Given the description of an element on the screen output the (x, y) to click on. 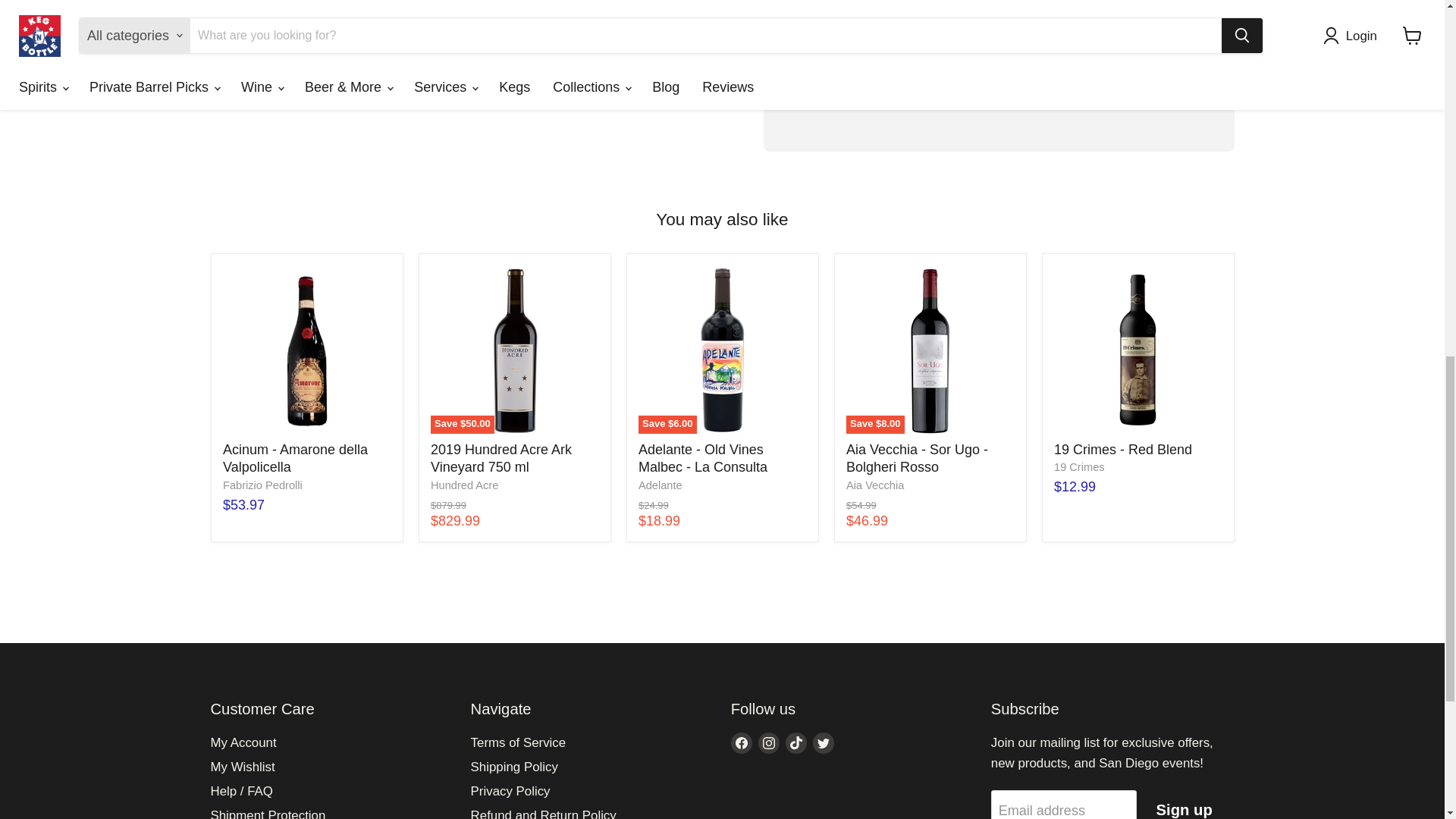
Instagram (768, 742)
Hundred Acre (463, 485)
Aia Vecchia (874, 485)
Adelante (660, 485)
19 Crimes (1079, 467)
Fabrizio Pedrolli (262, 485)
Facebook (741, 742)
